Given the description of an element on the screen output the (x, y) to click on. 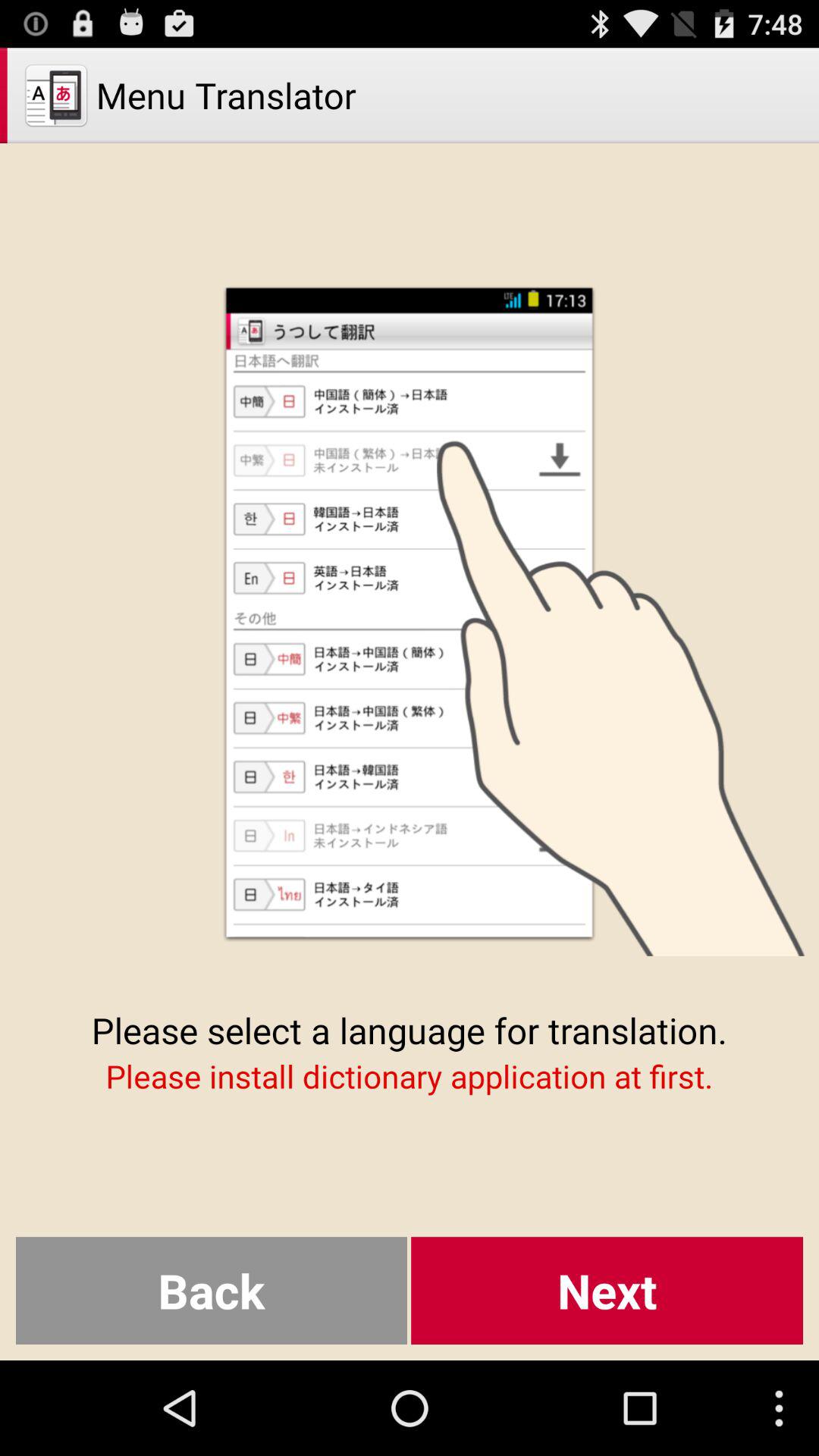
scroll until next (607, 1290)
